Given the description of an element on the screen output the (x, y) to click on. 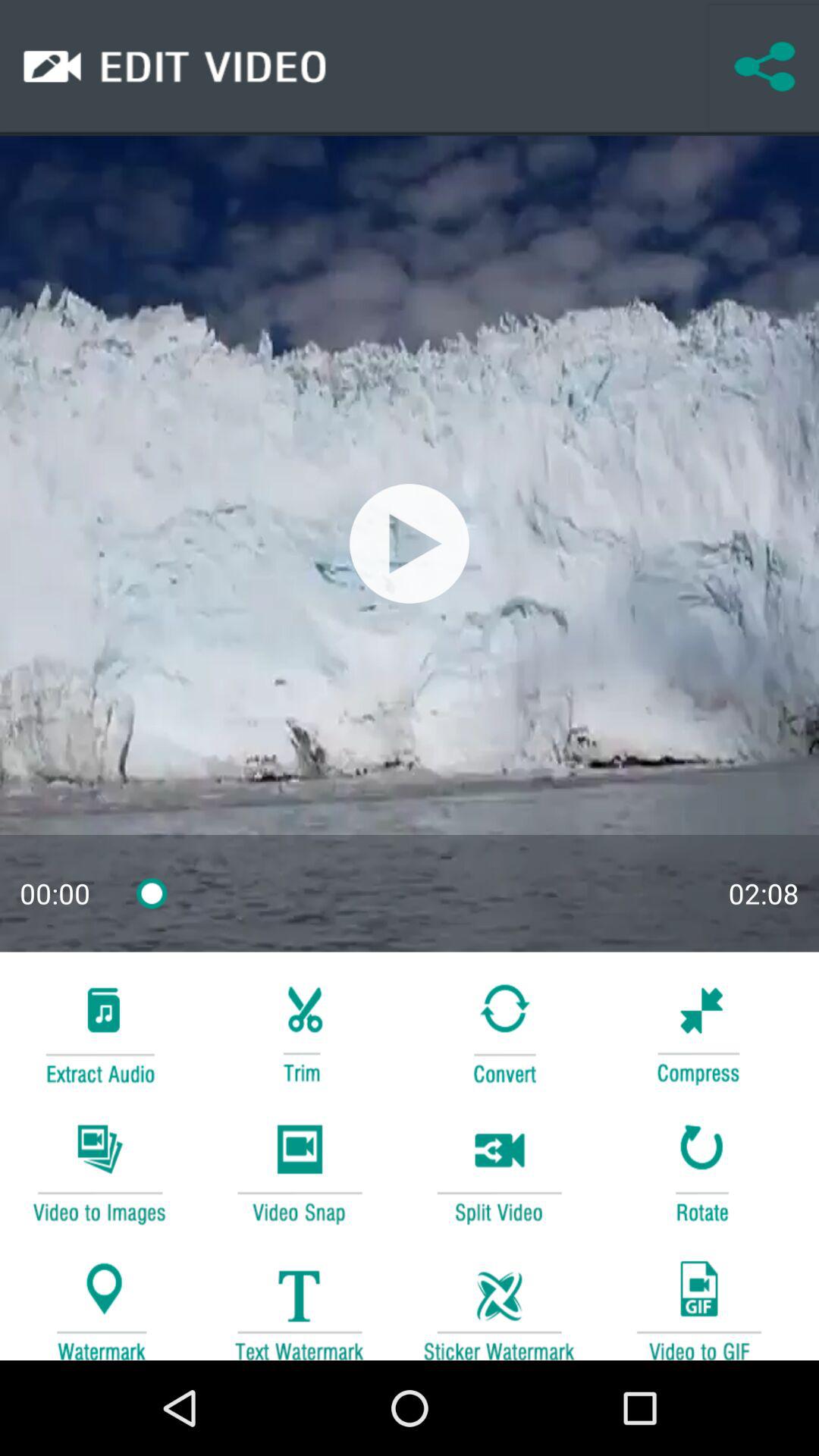
spli the video (498, 1171)
